Given the description of an element on the screen output the (x, y) to click on. 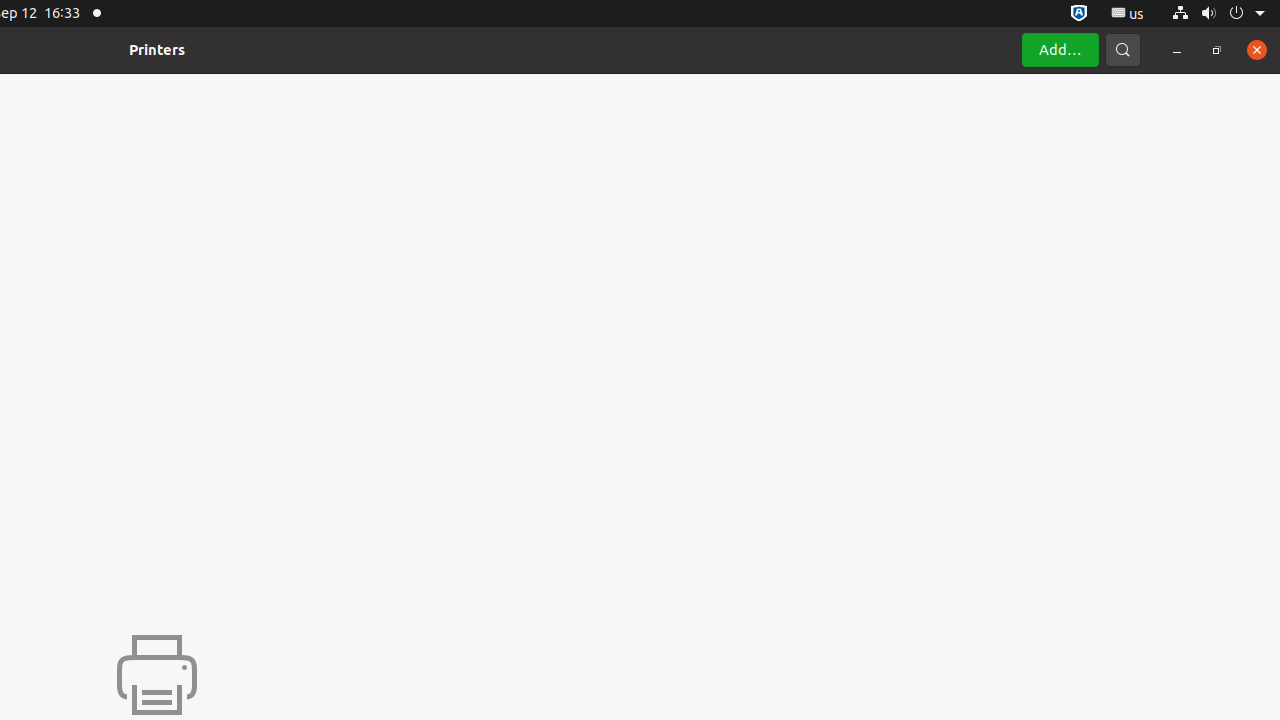
Minimize Element type: push-button (1177, 50)
